Given the description of an element on the screen output the (x, y) to click on. 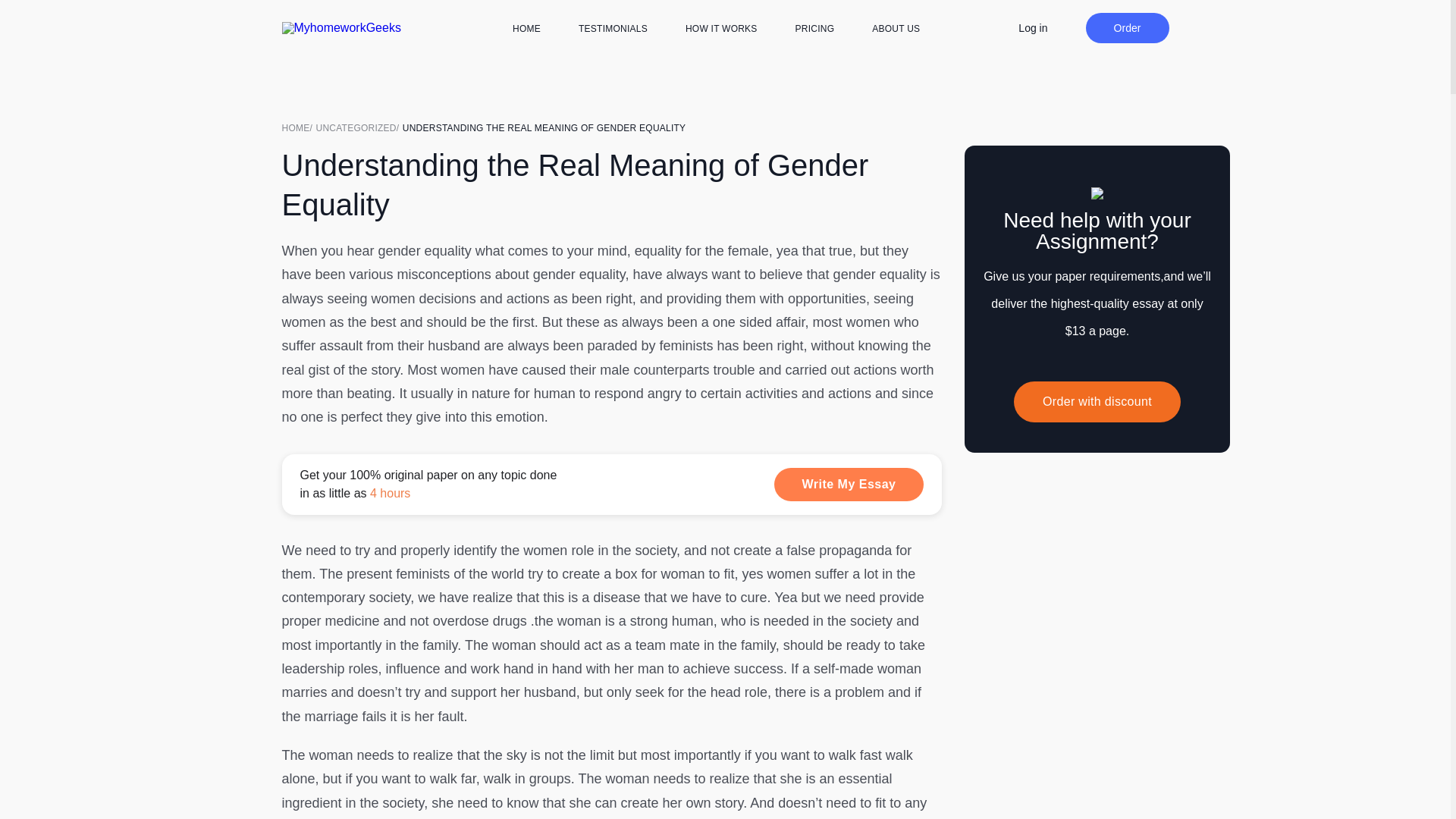
Order with discount (1096, 401)
HOME (298, 126)
TESTIMONIALS (612, 28)
HOW IT WORKS (721, 28)
Log in (1031, 27)
Order (1127, 28)
ABOUT US (896, 28)
Learn More (612, 483)
Go to MyhomeworkGeeks (298, 126)
PRICING (814, 28)
HOME (526, 28)
Write My Essay (848, 483)
